Given the description of an element on the screen output the (x, y) to click on. 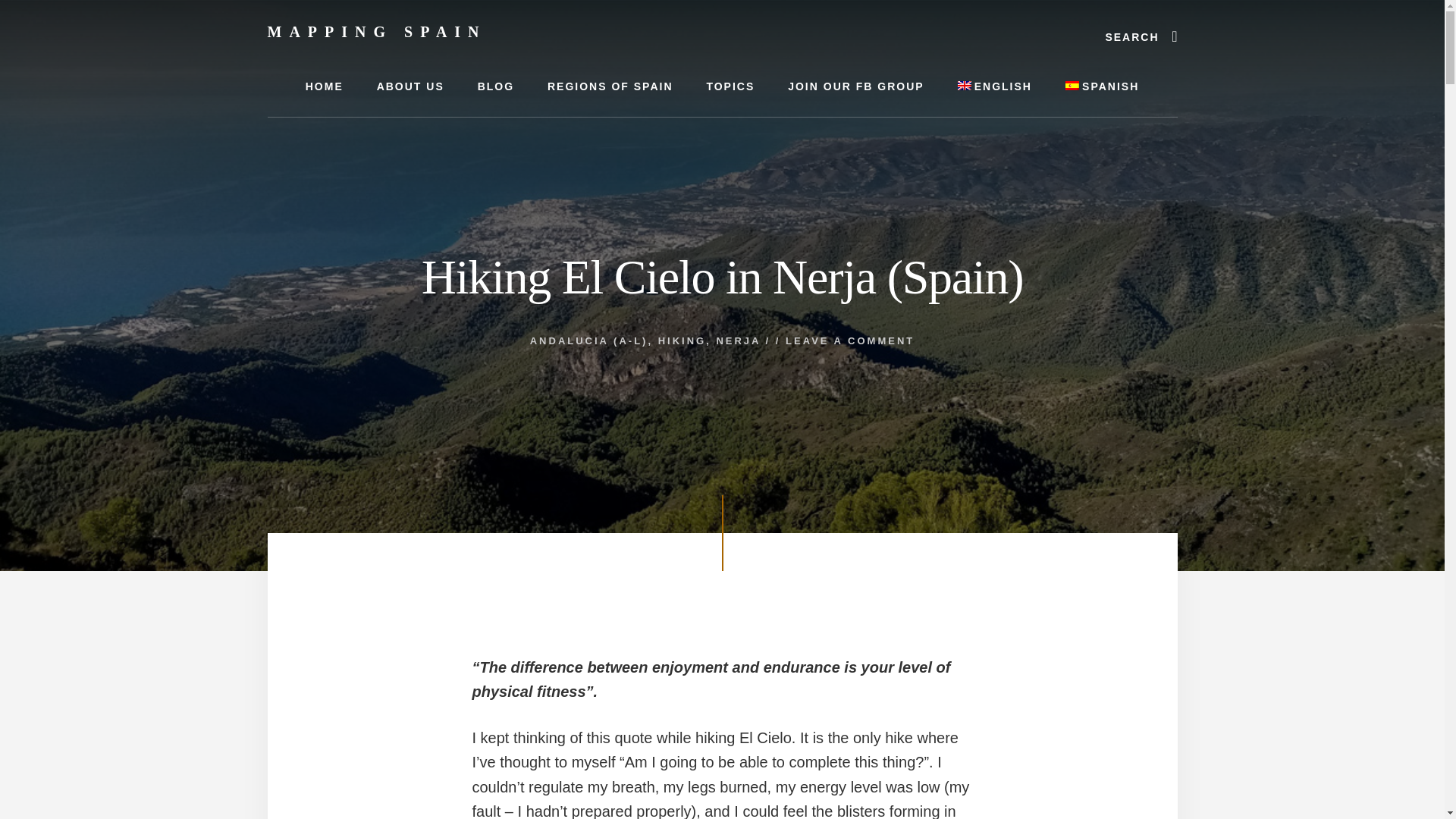
Spanish (1101, 86)
English (994, 86)
MAPPING SPAIN (376, 31)
HOME (323, 86)
REGIONS OF SPAIN (610, 86)
BLOG (496, 86)
ABOUT US (410, 86)
